Given the description of an element on the screen output the (x, y) to click on. 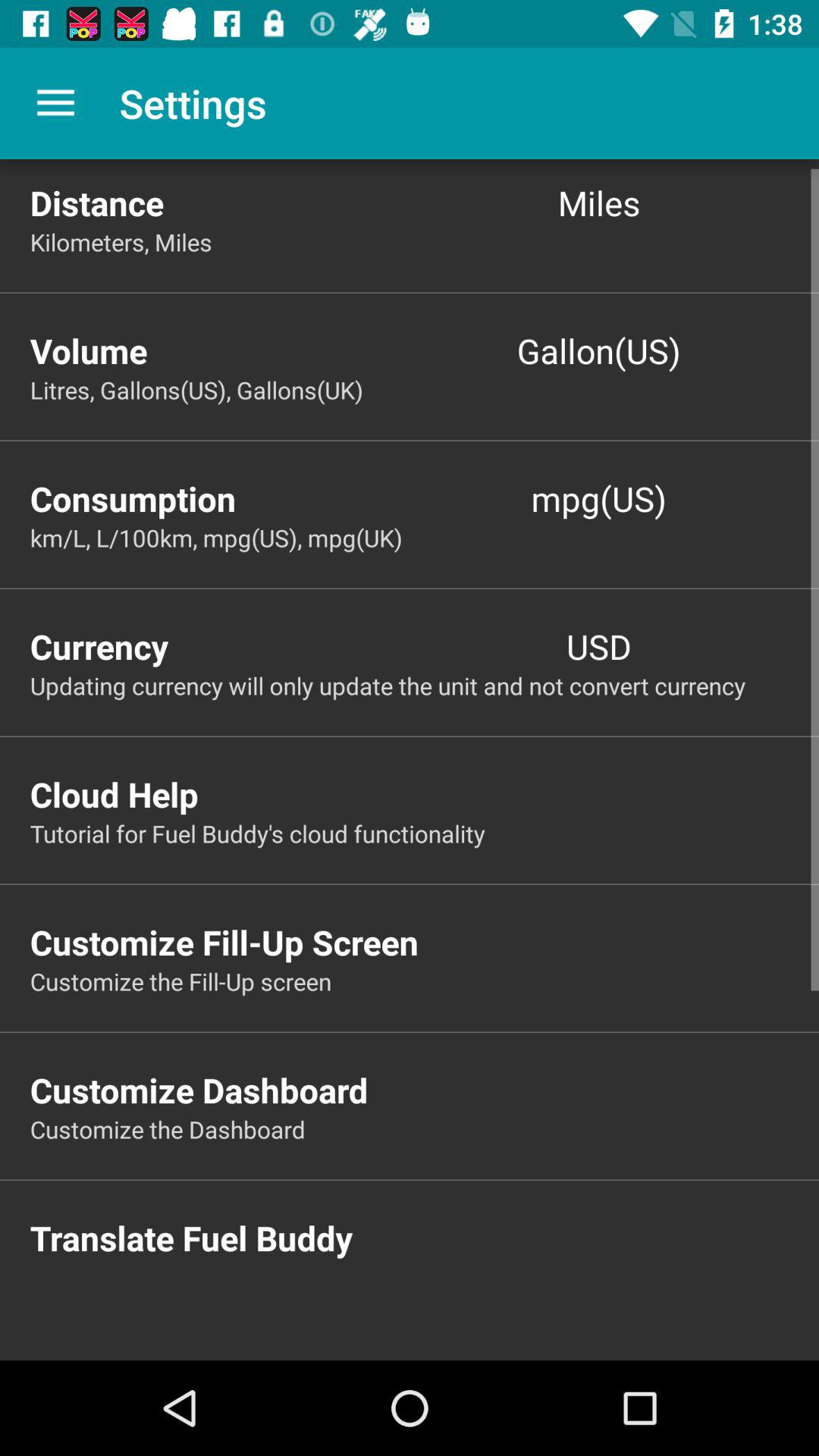
launch icon next to the volume item (598, 350)
